Given the description of an element on the screen output the (x, y) to click on. 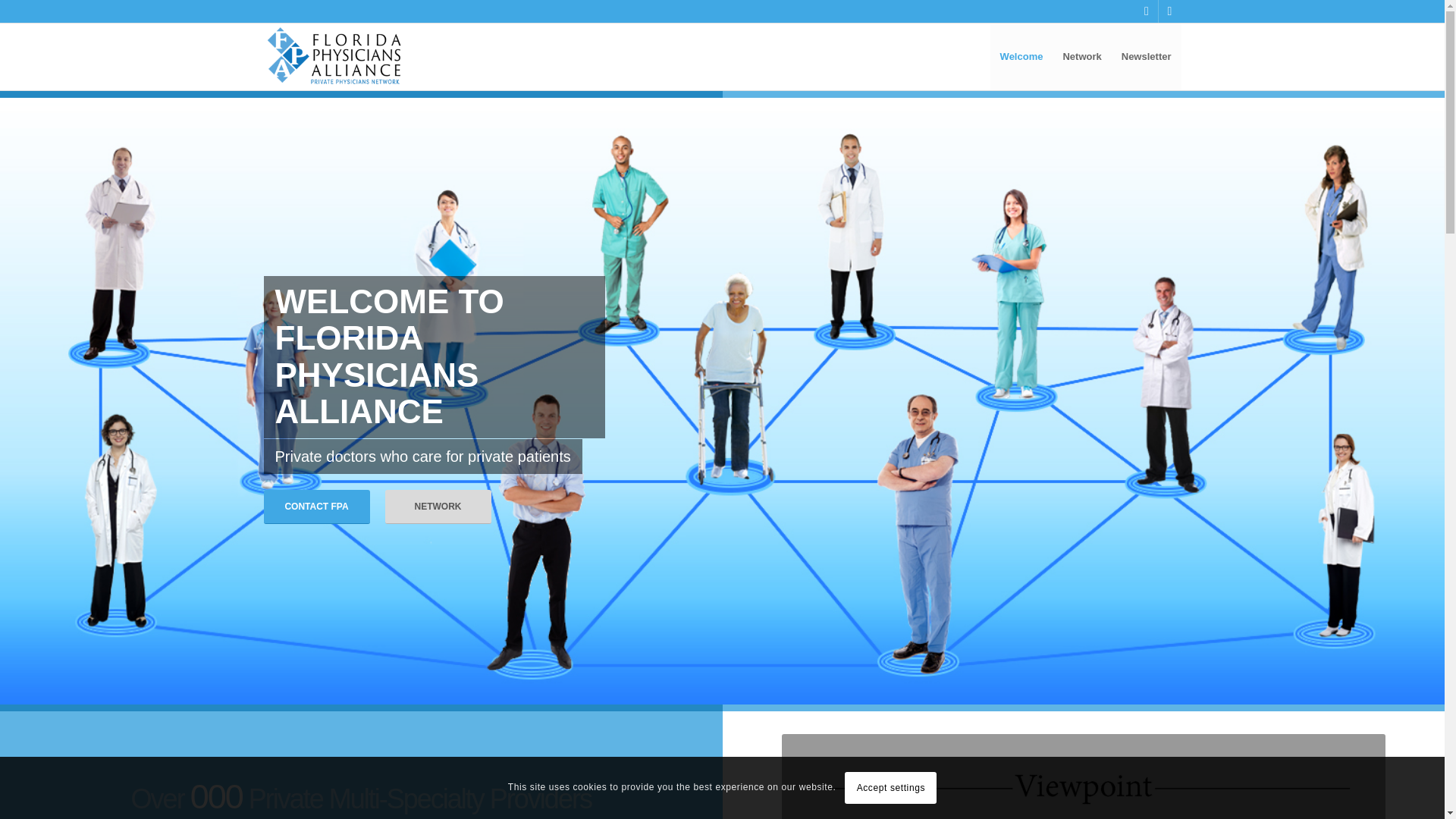
Newsletter (1146, 56)
Accept settings (890, 787)
Mail (1169, 11)
NETWORK (438, 499)
Click on article to open PDF. (1083, 776)
CONTACT FPA (316, 498)
Facebook (1146, 11)
Welcome (1021, 56)
